Given the description of an element on the screen output the (x, y) to click on. 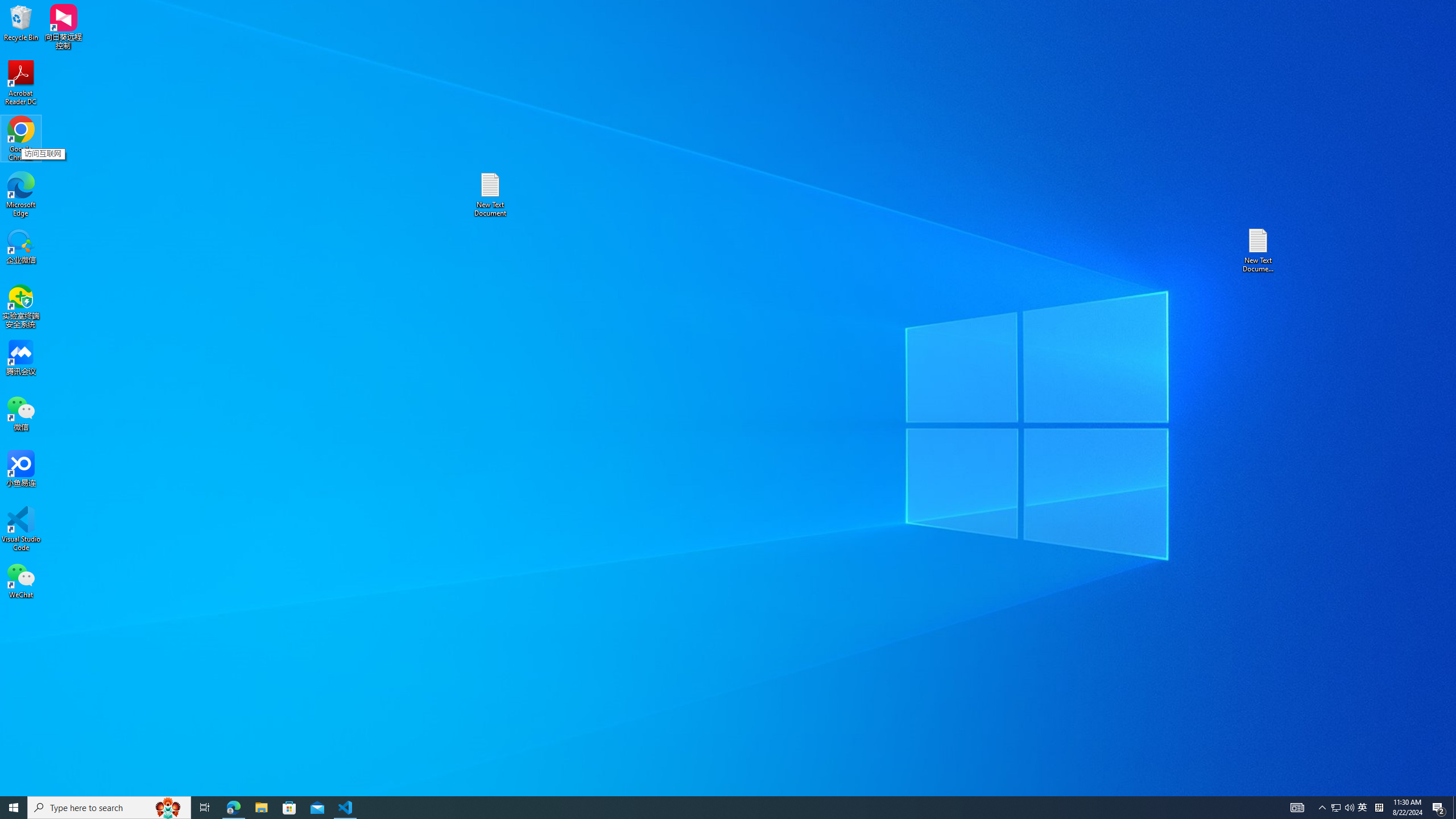
Type here to search (108, 807)
Show desktop (1454, 807)
Recycle Bin (21, 22)
Microsoft Store (1335, 807)
Notification Chevron (289, 807)
Visual Studio Code - 1 running window (1322, 807)
File Explorer (345, 807)
New Text Document (2) (261, 807)
Google Chrome (1258, 250)
